Given the description of an element on the screen output the (x, y) to click on. 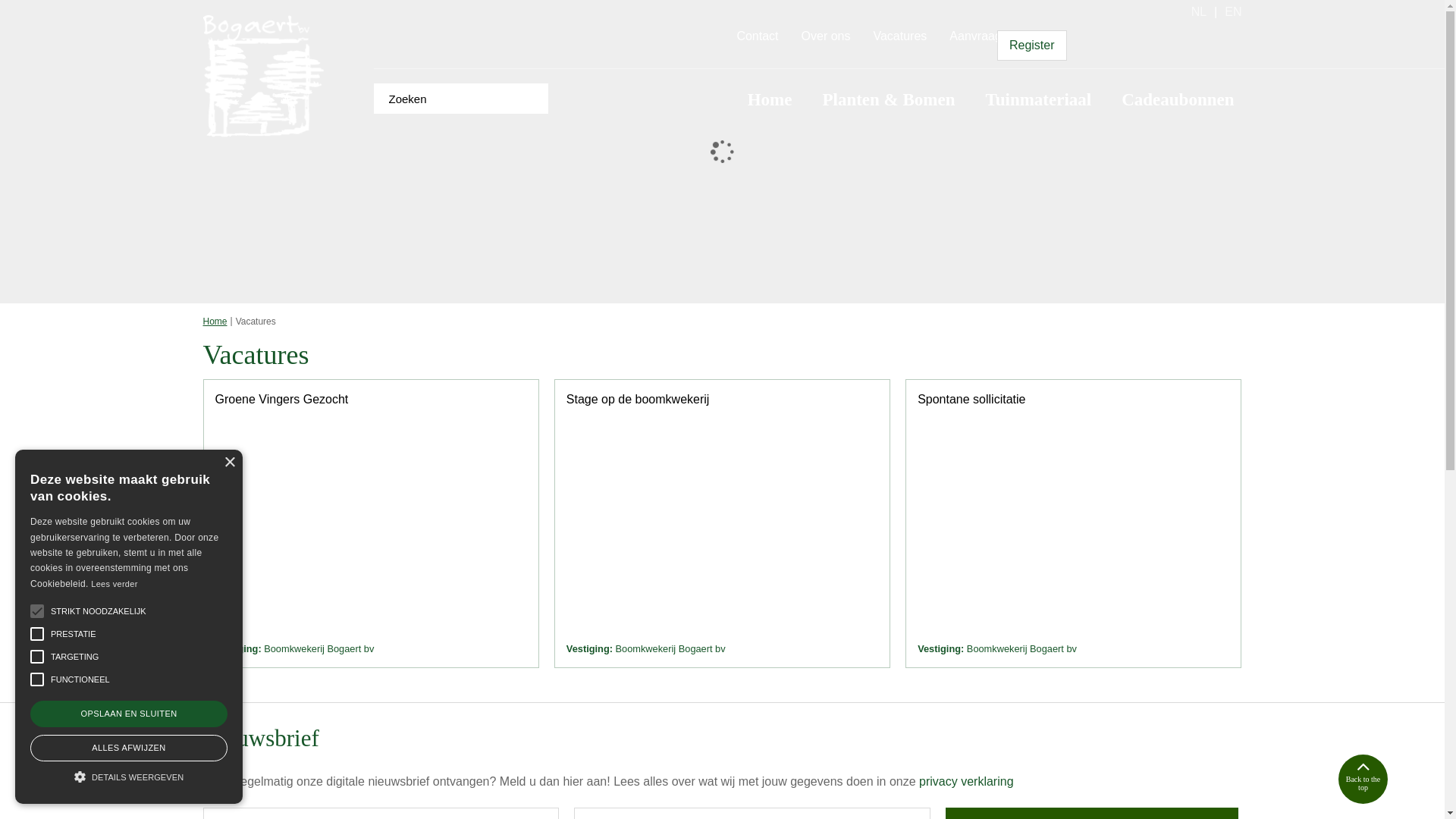
Over ons Element type: text (826, 36)
Cadeaubonnen Element type: text (1177, 99)
Tuinmateriaal Element type: text (1038, 99)
Ga naar je winkelwagen Element type: hover (1189, 37)
Home Element type: text (215, 321)
Vacatures Element type: text (255, 321)
Zoeken Element type: text (531, 98)
Lees verder Element type: text (114, 583)
Vacatures Element type: text (899, 36)
Home Element type: text (769, 99)
Spontane sollicitatie
Vestiging: Boomkwekerij Bogaert bv Element type: text (1073, 523)
Contact Element type: text (756, 36)
Aanvraag formulier Element type: text (1000, 36)
Stage op de boomkwekerij
Vestiging: Boomkwekerij Bogaert bv Element type: text (722, 523)
Login Element type: hover (1089, 38)
Register Element type: text (1031, 45)
privacy verklaring Element type: text (966, 781)
Boomkwekerij Bogaert in Oosterzele Element type: hover (263, 76)
Planten & Bomen Element type: text (887, 99)
Groene Vingers Gezocht
Vestiging: Boomkwekerij Bogaert bv Element type: text (371, 523)
Ga naar je wensenlijst Element type: hover (1134, 37)
